Given the description of an element on the screen output the (x, y) to click on. 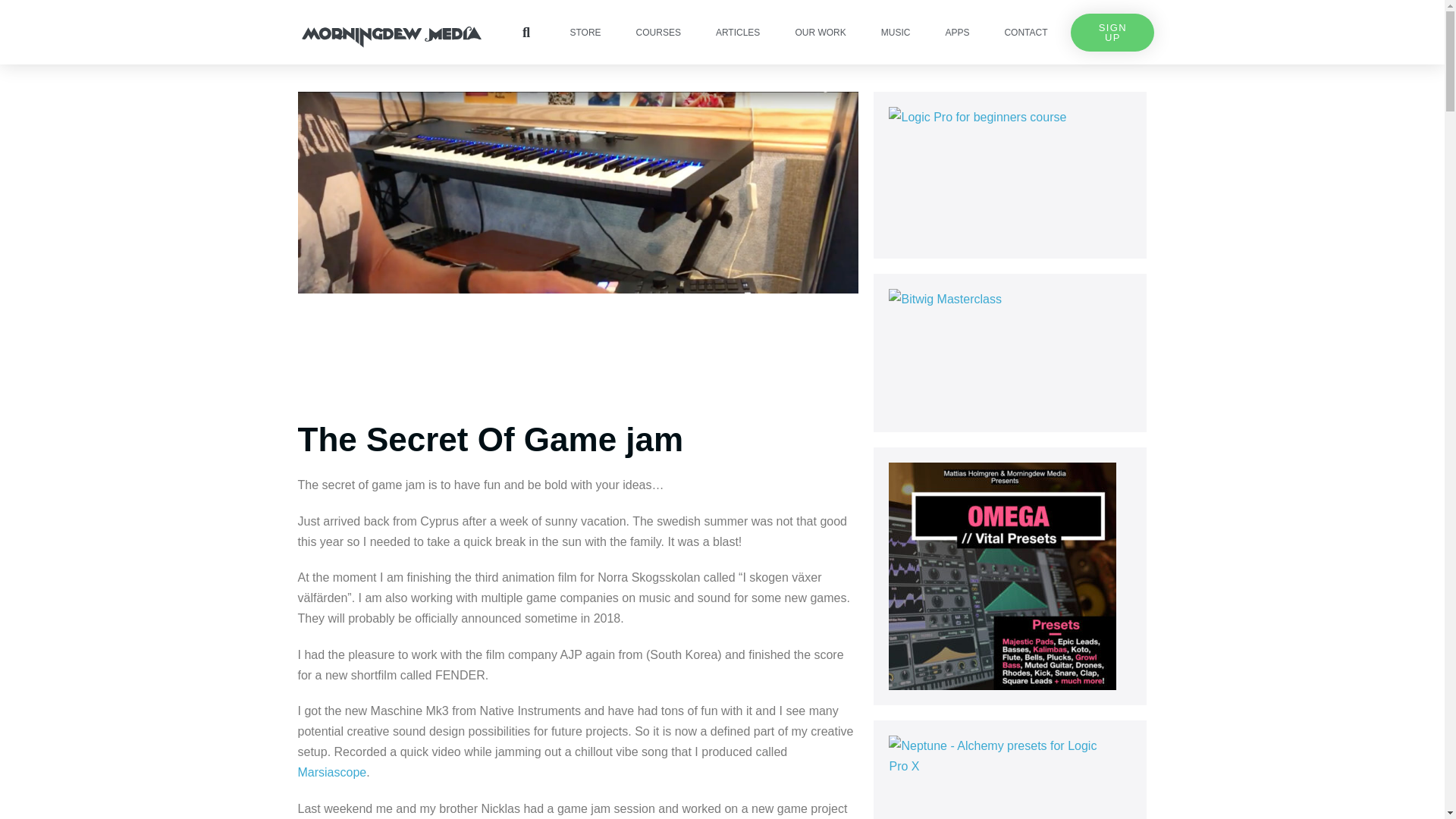
Buy Logic Pro course (1009, 175)
Bitwig Masterclass (1002, 352)
CONTACT (1025, 32)
ARTICLES (737, 32)
MUSIC (896, 32)
November 13, 2017 (783, 47)
COURSES (658, 32)
Marsiascope (331, 771)
STORE (584, 32)
Mattias Holmgren (655, 47)
